Given the description of an element on the screen output the (x, y) to click on. 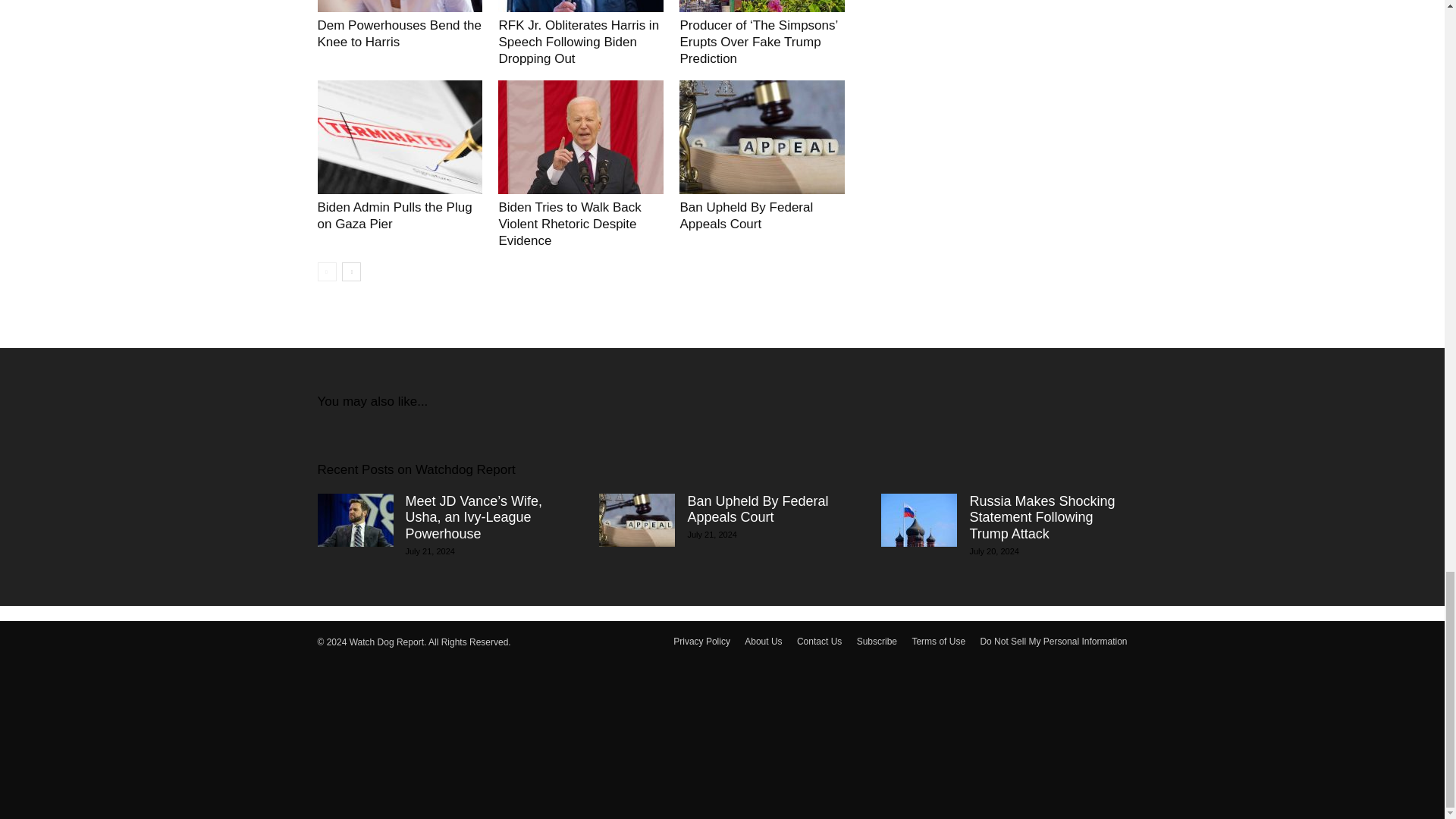
Dem Powerhouses Bend the Knee to Harris (398, 33)
Ban Upheld By Federal Appeals Court (745, 214)
Biden Admin Pulls the Plug on Gaza Pier (394, 214)
Dem Powerhouses Bend the Knee to Harris (399, 6)
Dem Powerhouses Bend the Knee to Harris (398, 33)
Biden Tries to Walk Back Violent Rhetoric Despite Evidence (568, 223)
